Given the description of an element on the screen output the (x, y) to click on. 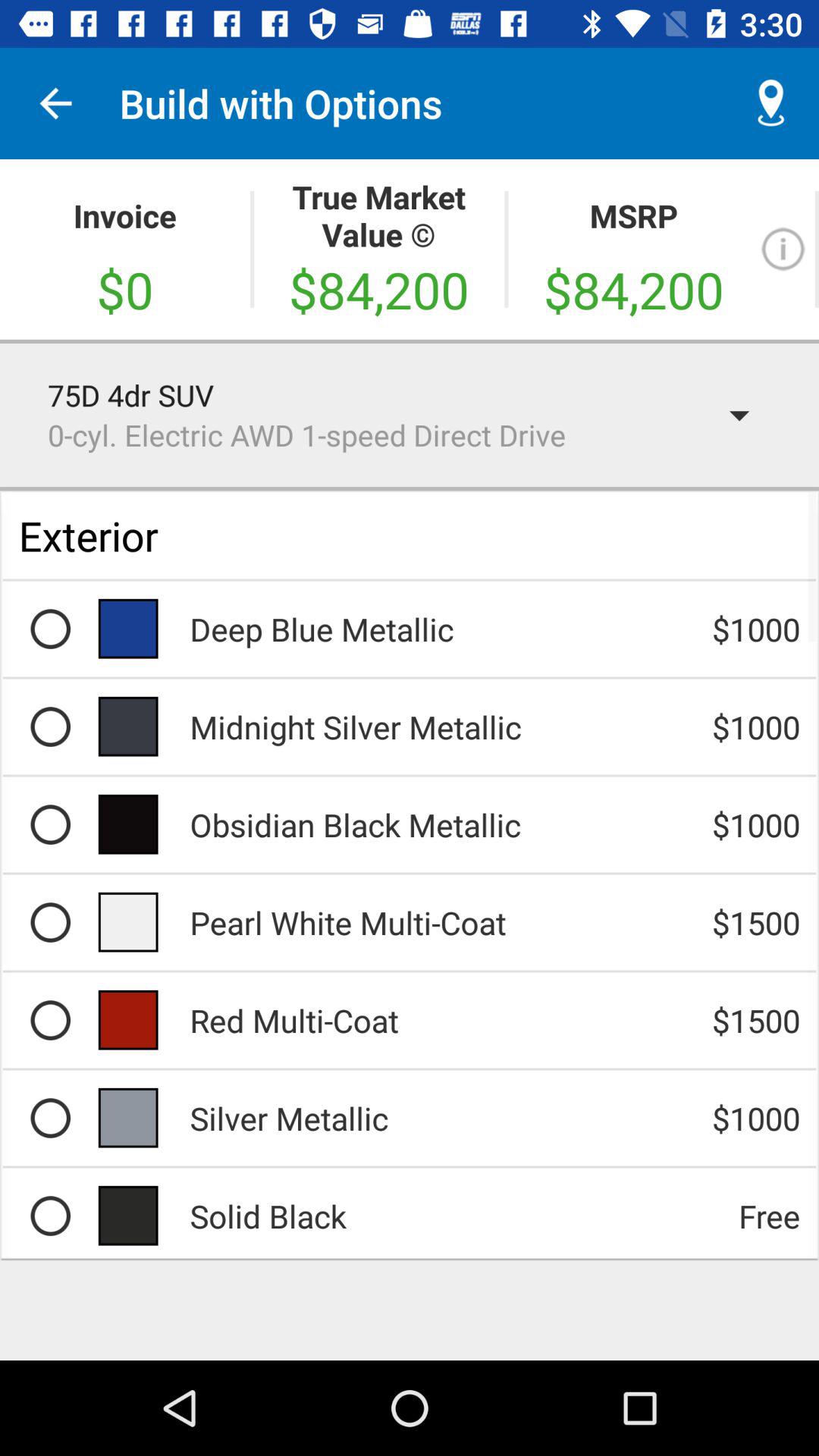
share the article (50, 824)
